Given the description of an element on the screen output the (x, y) to click on. 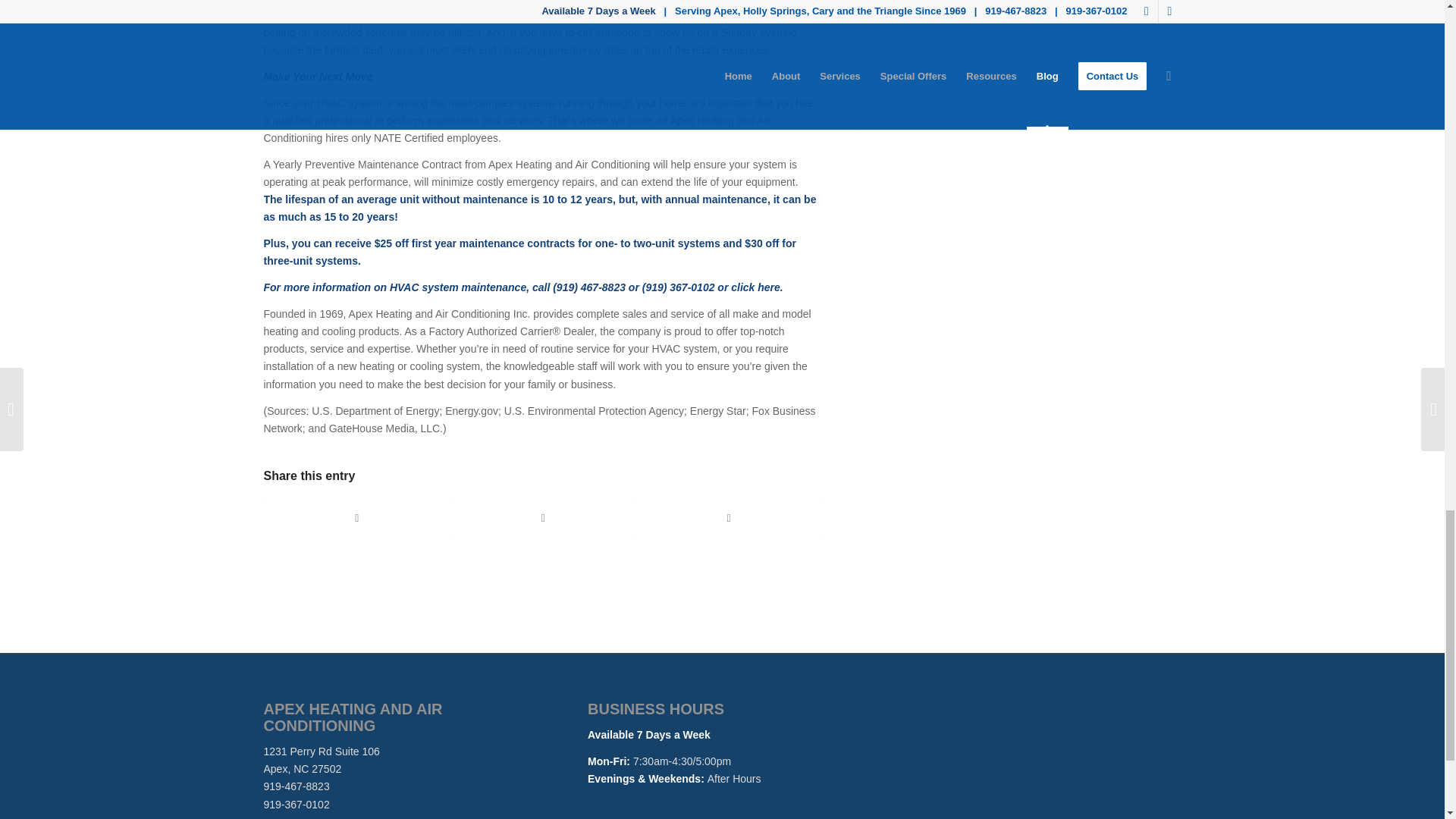
click here (755, 287)
